Given the description of an element on the screen output the (x, y) to click on. 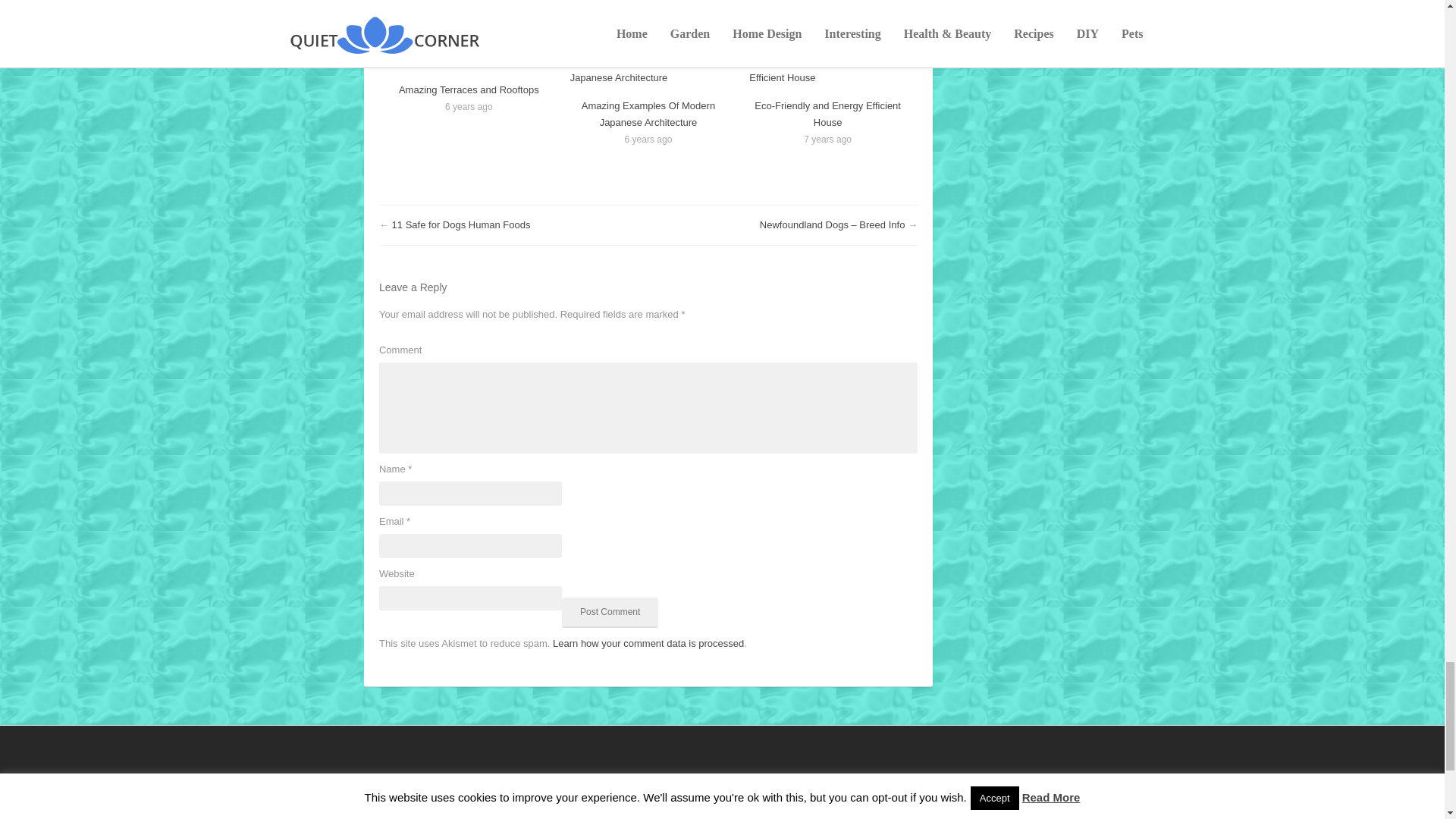
Reddit (515, 3)
Flipboard (454, 3)
Facebook Messenger (545, 3)
Email (667, 3)
Viber (636, 3)
Twitter (424, 3)
Yahoo Mail (697, 3)
Post Comment (610, 612)
WhatsApp (606, 3)
Mix (485, 3)
Yummly (575, 3)
Facebook (393, 3)
